Given the description of an element on the screen output the (x, y) to click on. 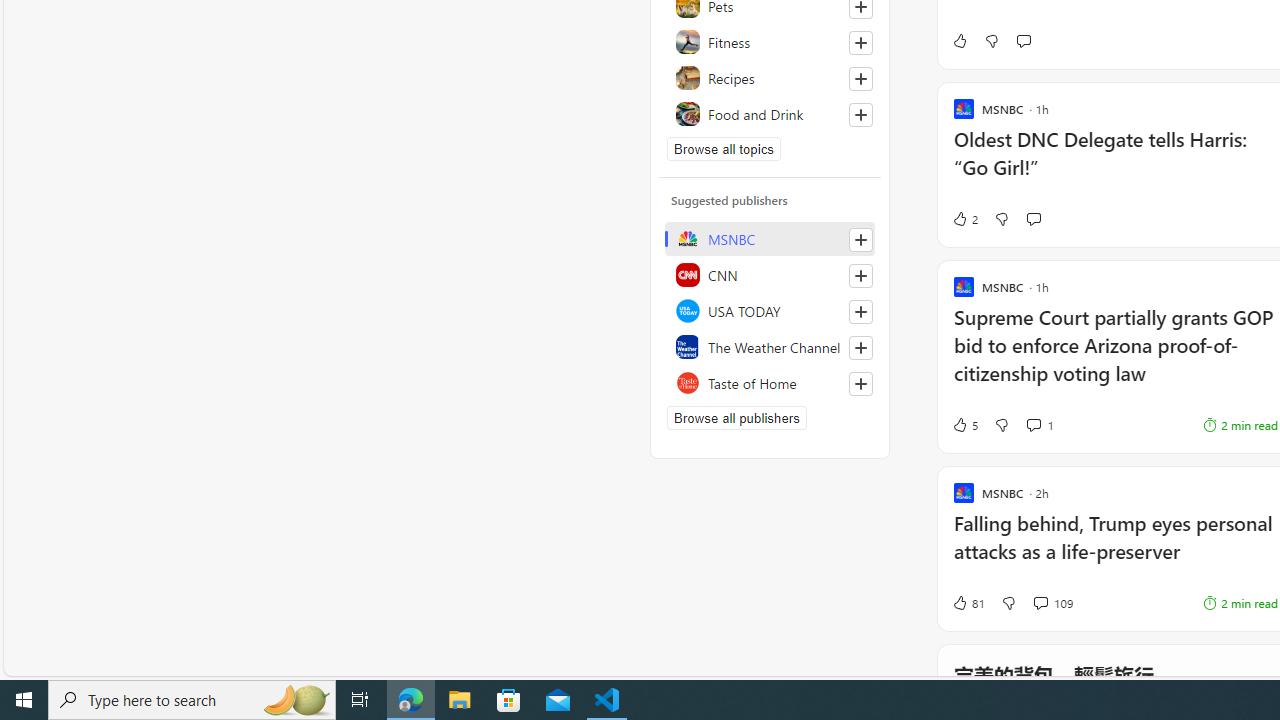
Food and Drink (770, 114)
Browse all publishers (736, 417)
2 Like (964, 219)
Taste of Home (770, 382)
Fitness (770, 42)
5 Like (964, 425)
Browse all topics (724, 148)
